Given the description of an element on the screen output the (x, y) to click on. 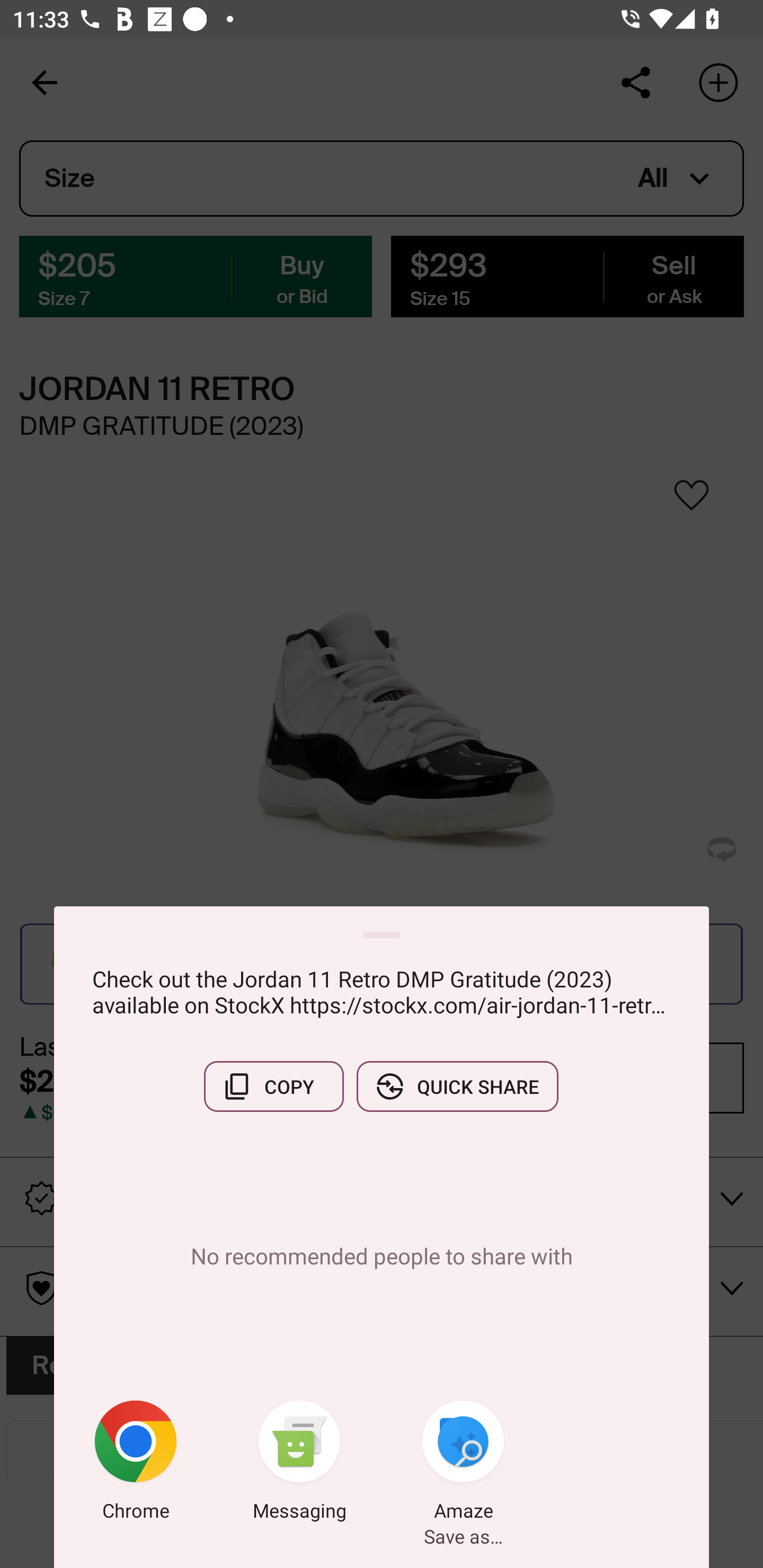
COPY (273, 1086)
QUICK SHARE (457, 1086)
Chrome (135, 1463)
Messaging (299, 1463)
Amaze Save as… (463, 1463)
